Given the description of an element on the screen output the (x, y) to click on. 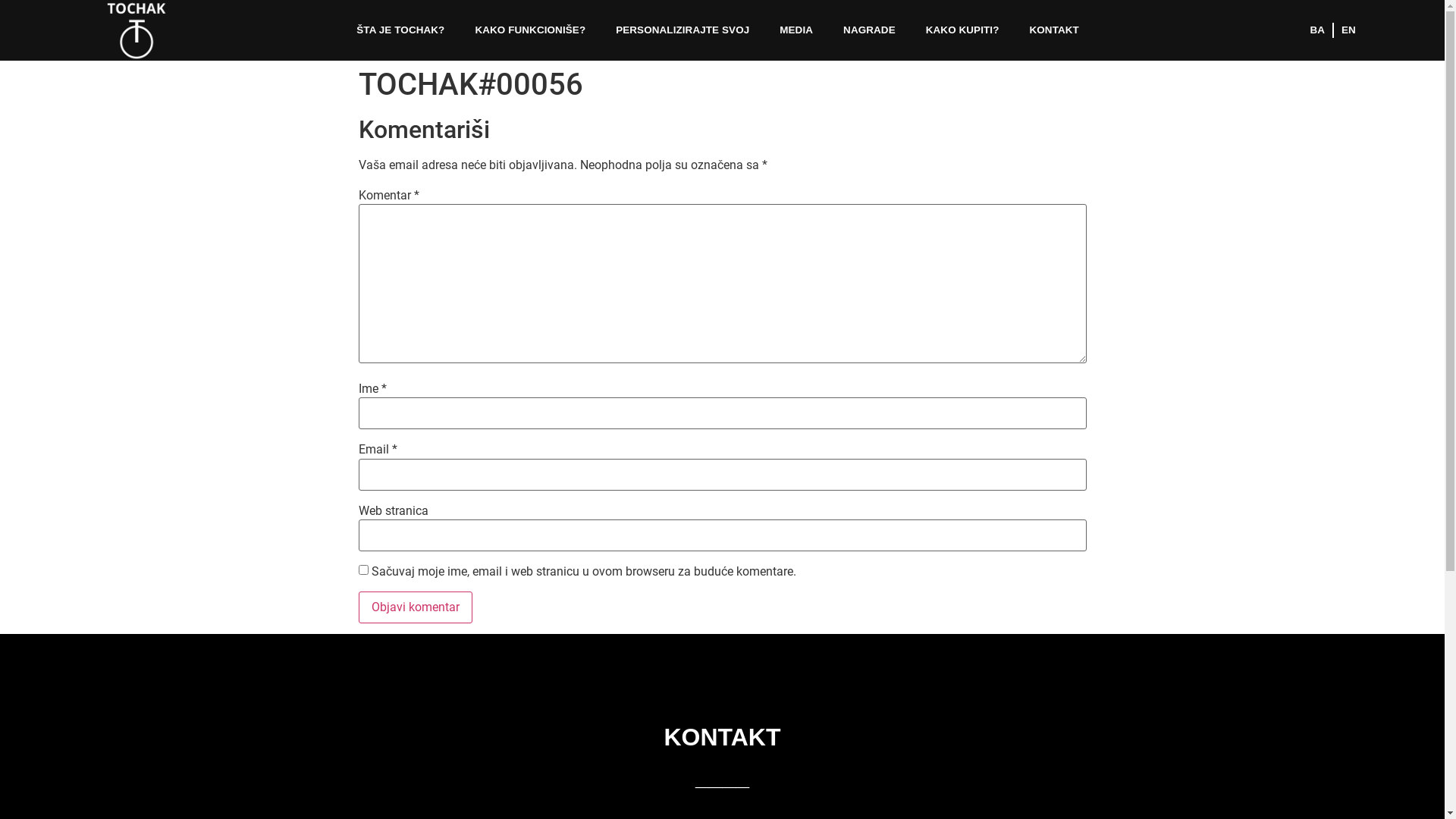
EN Element type: text (1348, 30)
KAKO KUPITI? Element type: text (962, 30)
BA Element type: text (1317, 29)
NAGRADE Element type: text (869, 30)
PERSONALIZIRAJTE SVOJ Element type: text (682, 30)
KONTAKT Element type: text (1053, 30)
MEDIA Element type: text (796, 30)
Objavi komentar Element type: text (414, 607)
